Given the description of an element on the screen output the (x, y) to click on. 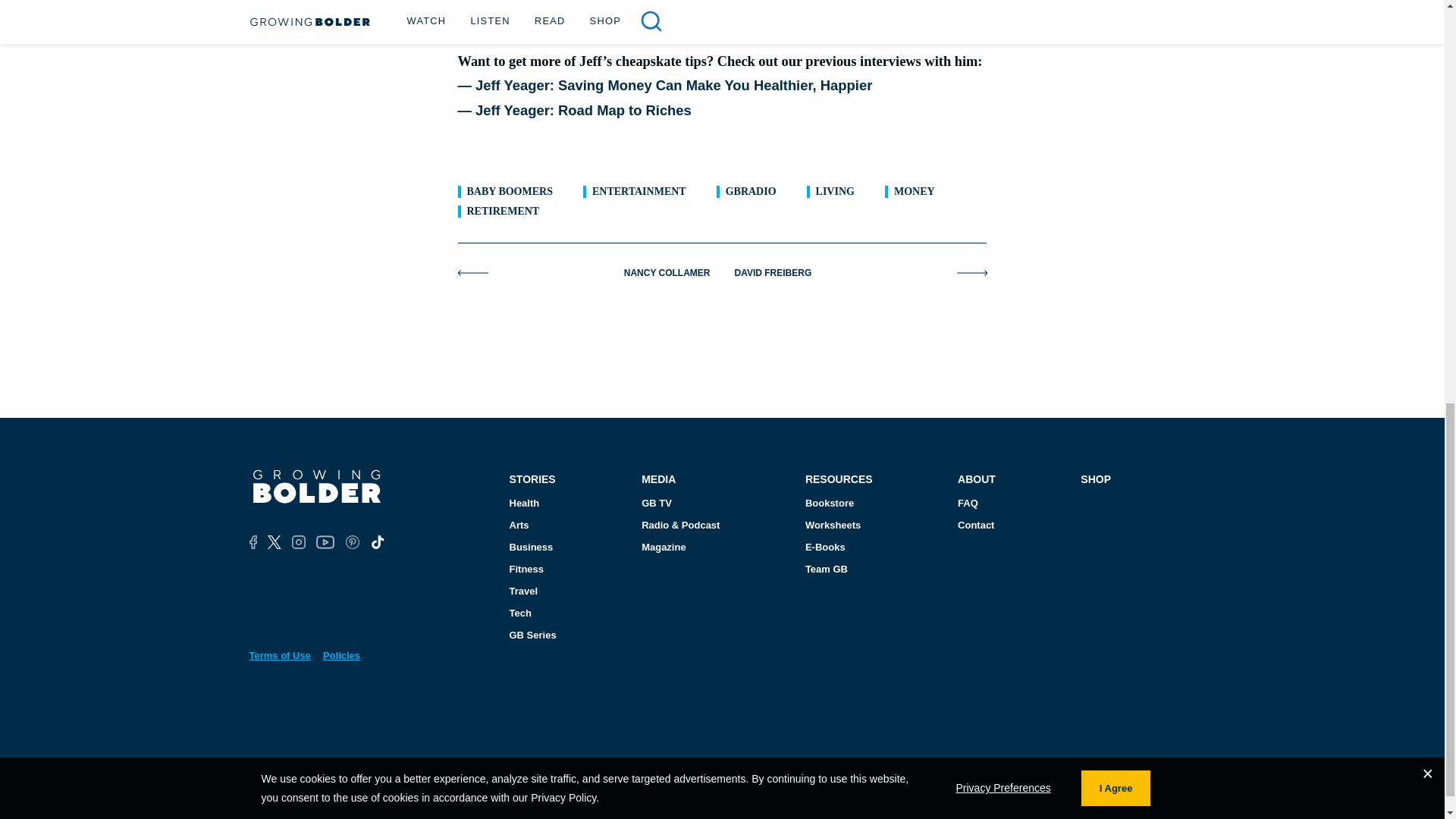
Link to: entertainment (638, 192)
Link to: baby boomers (510, 192)
Link to: money (913, 192)
BABY BOOMERS (510, 192)
tiktok (376, 541)
Link to: living (834, 192)
ENTERTAINMENT (638, 192)
Link to: retirement (503, 211)
Link to: gbradio (750, 192)
x (274, 541)
